Given the description of an element on the screen output the (x, y) to click on. 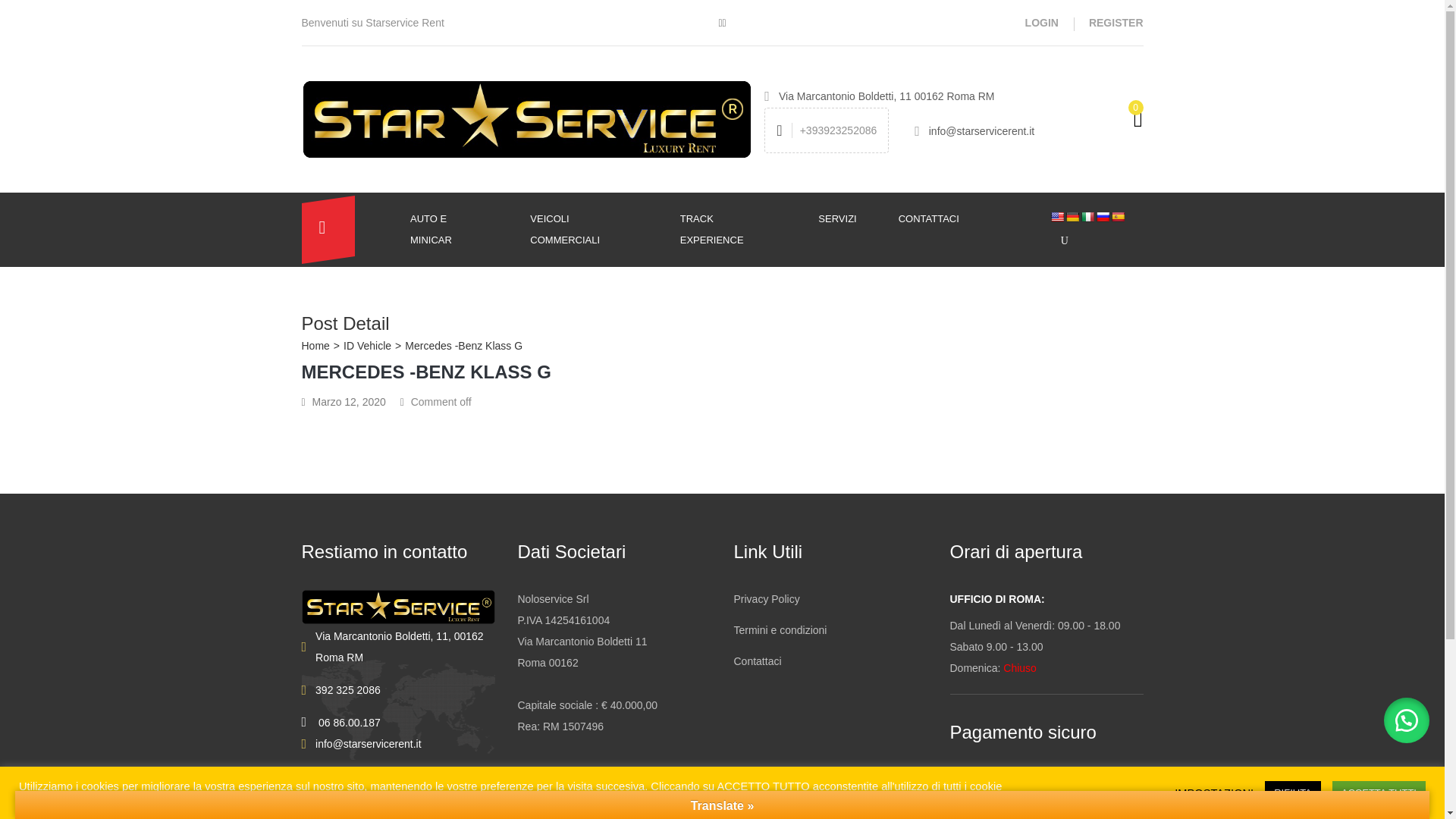
RIFIUTA (1292, 792)
TRACK EXPERIENCE (738, 229)
Italian (1087, 216)
AUTO E MINICAR (458, 229)
LOGIN (1041, 22)
ACCETTA TUTTI (1378, 792)
Comment off (440, 401)
Via Marcantonio Boldetti, 11, 00162 Roma RM (405, 646)
Privacy Policy (766, 598)
Veicoli commerciali (593, 229)
REGISTER (1115, 22)
Servizi (846, 218)
Home (315, 345)
Auto e MiniCar (458, 229)
392 325 2086 (347, 690)
